Given the description of an element on the screen output the (x, y) to click on. 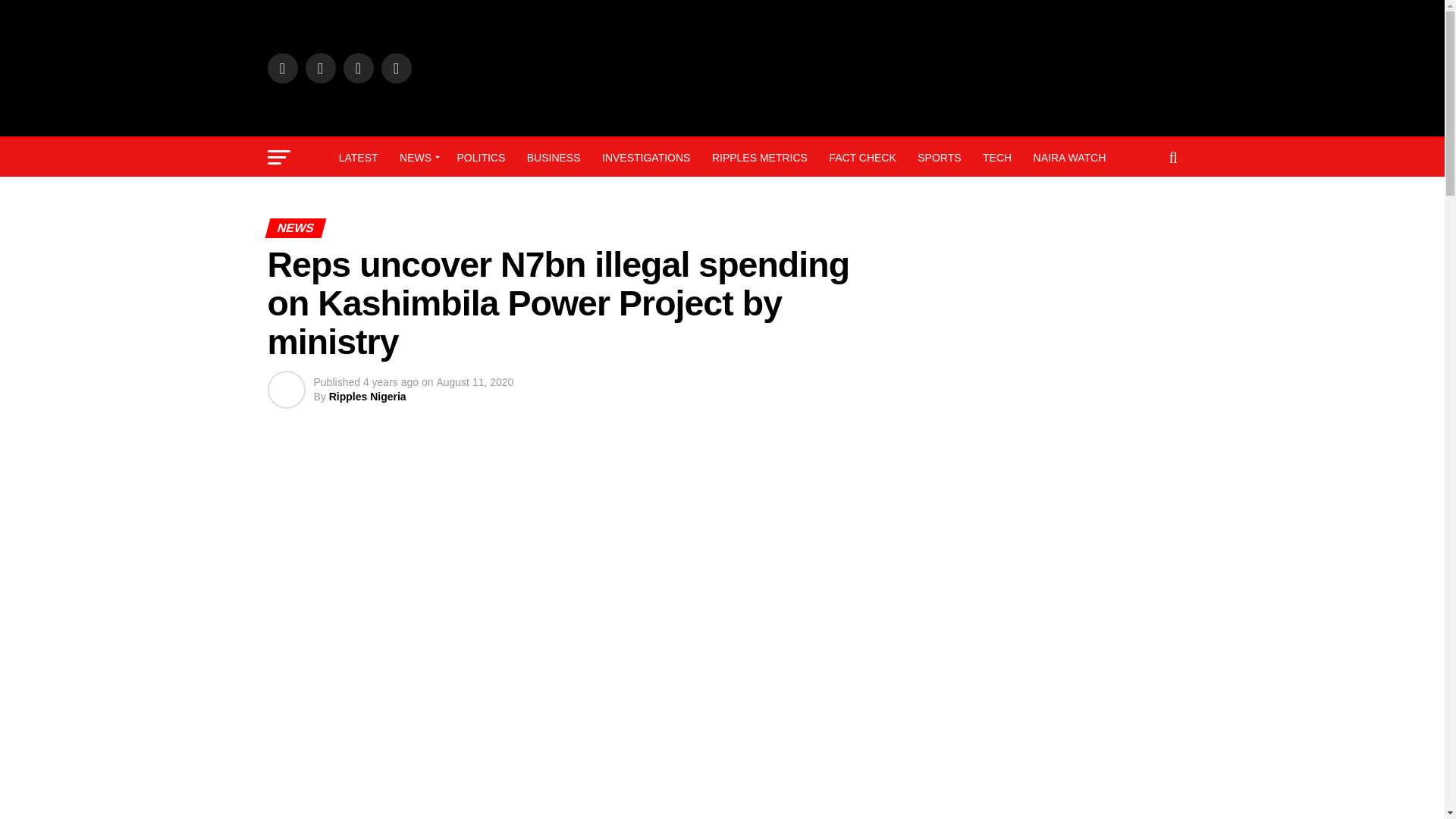
BUSINESS (553, 157)
Posts by Ripples Nigeria (367, 396)
NEWS (417, 157)
LATEST (358, 157)
POLITICS (479, 157)
